Given the description of an element on the screen output the (x, y) to click on. 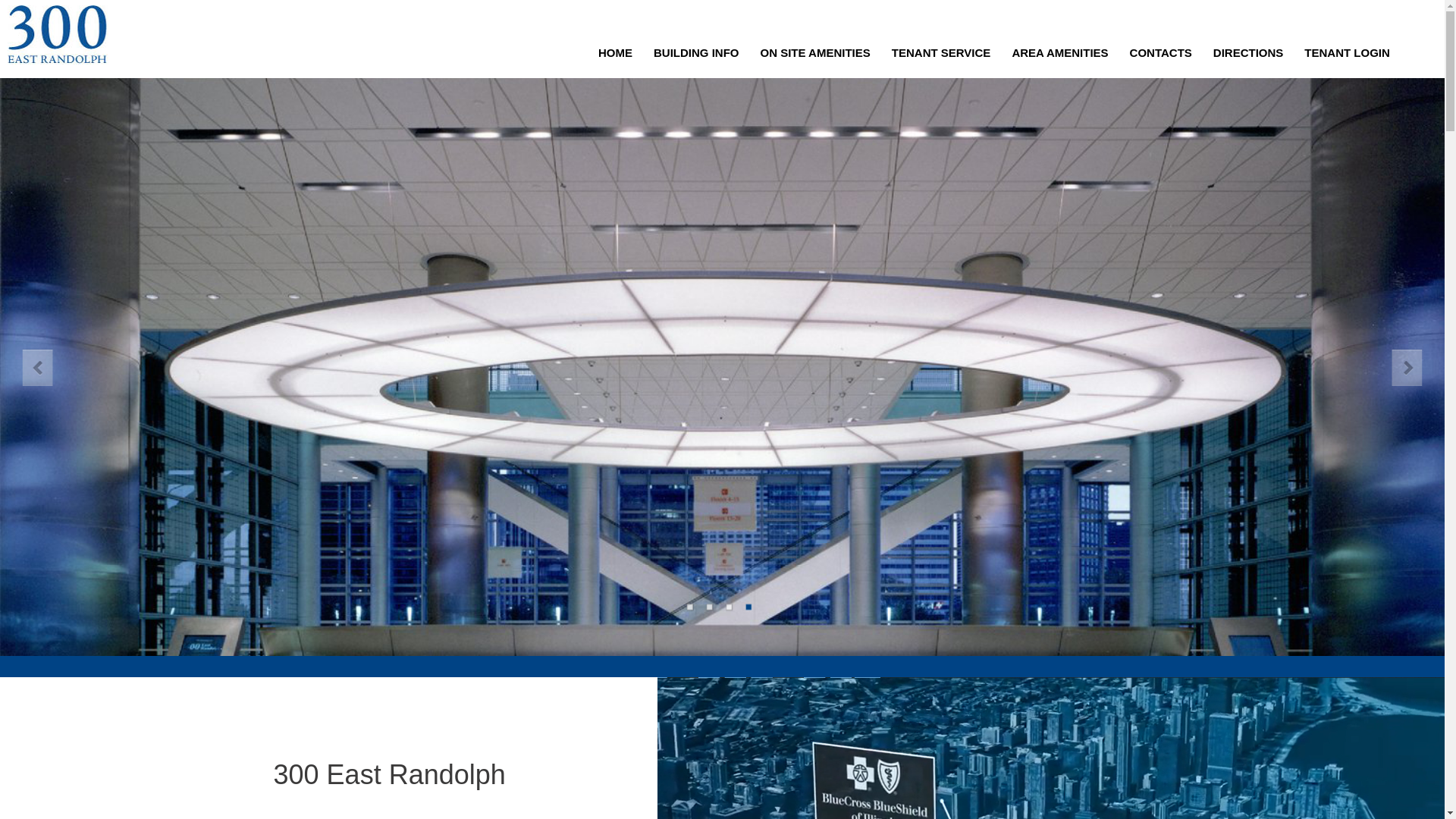
AREA AMENITIES Element type: text (1059, 52)
CONTACTS Element type: text (1160, 52)
ON SITE AMENITIES Element type: text (814, 52)
TENANT LOGIN Element type: text (1346, 52)
HOME Element type: text (615, 52)
TENANT SERVICE Element type: text (941, 52)
BUILDING INFO Element type: text (696, 52)
DIRECTIONS Element type: text (1248, 52)
